Given the description of an element on the screen output the (x, y) to click on. 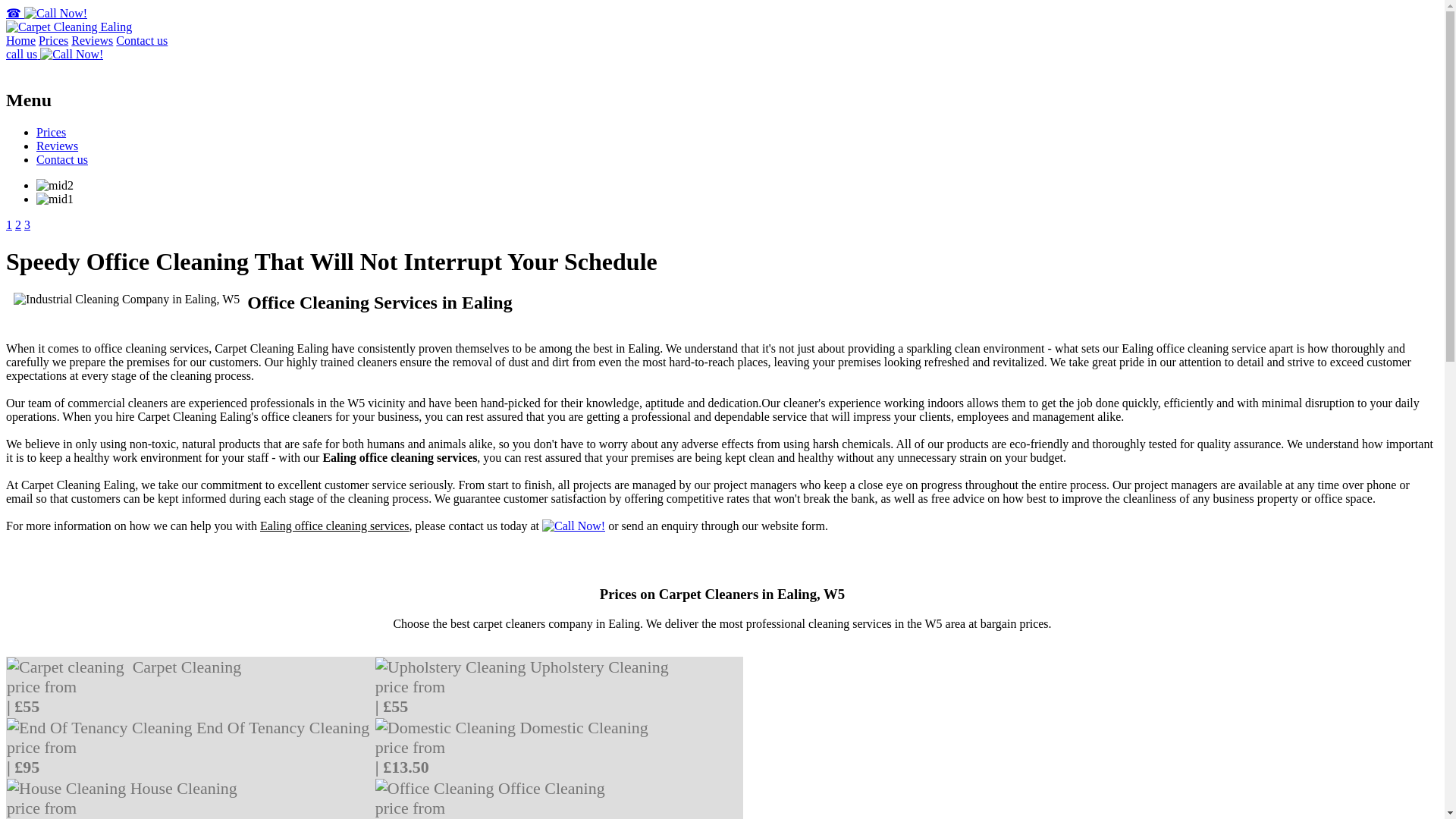
Reviews (57, 145)
Prices (53, 40)
Reviews (92, 40)
Contact us (141, 40)
Home (19, 40)
call us (54, 53)
Prices (50, 132)
Contact us (61, 159)
Call Now! (573, 525)
